Given the description of an element on the screen output the (x, y) to click on. 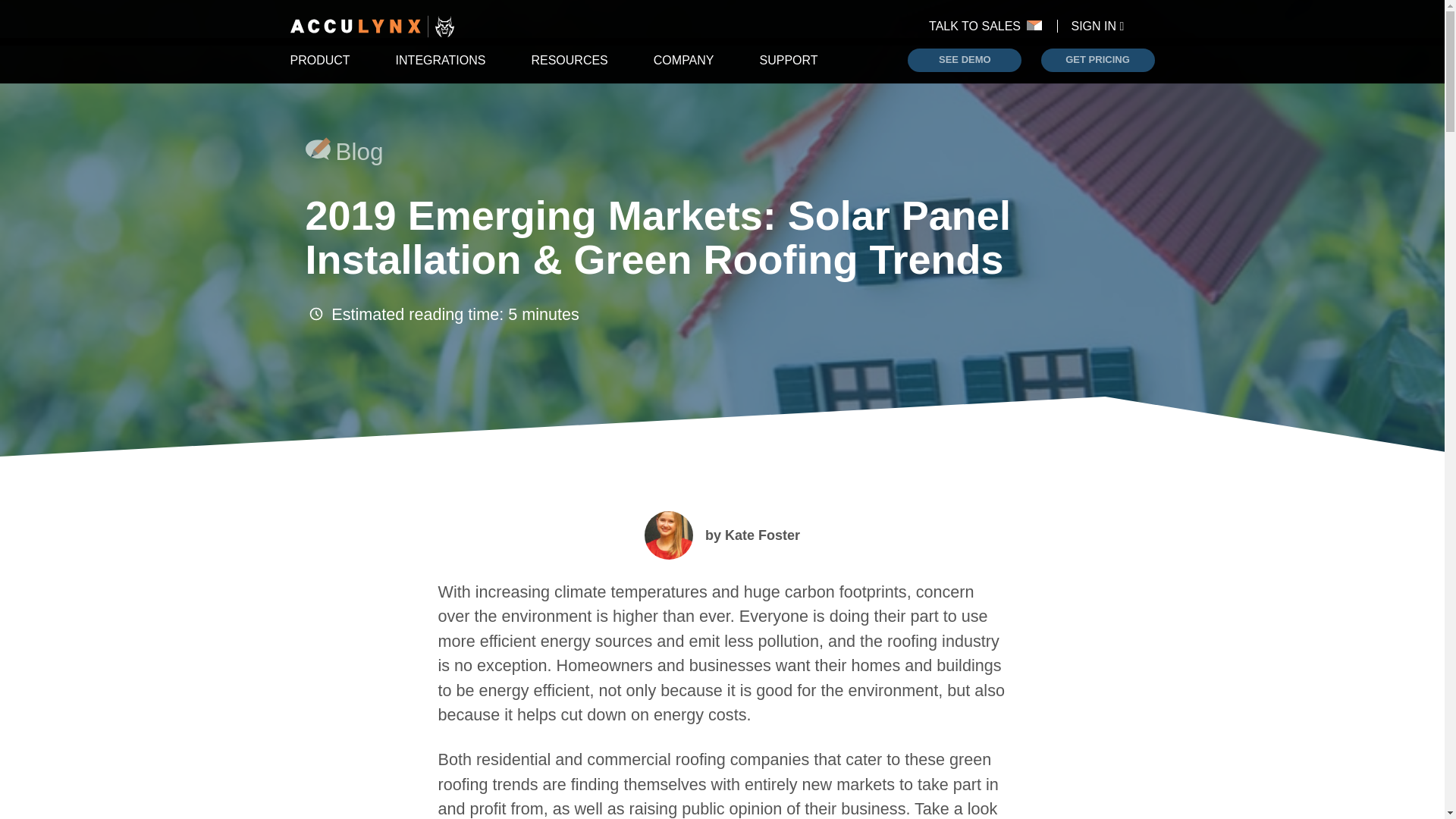
TALK TO SALES (992, 25)
SIGN IN (1098, 25)
